Given the description of an element on the screen output the (x, y) to click on. 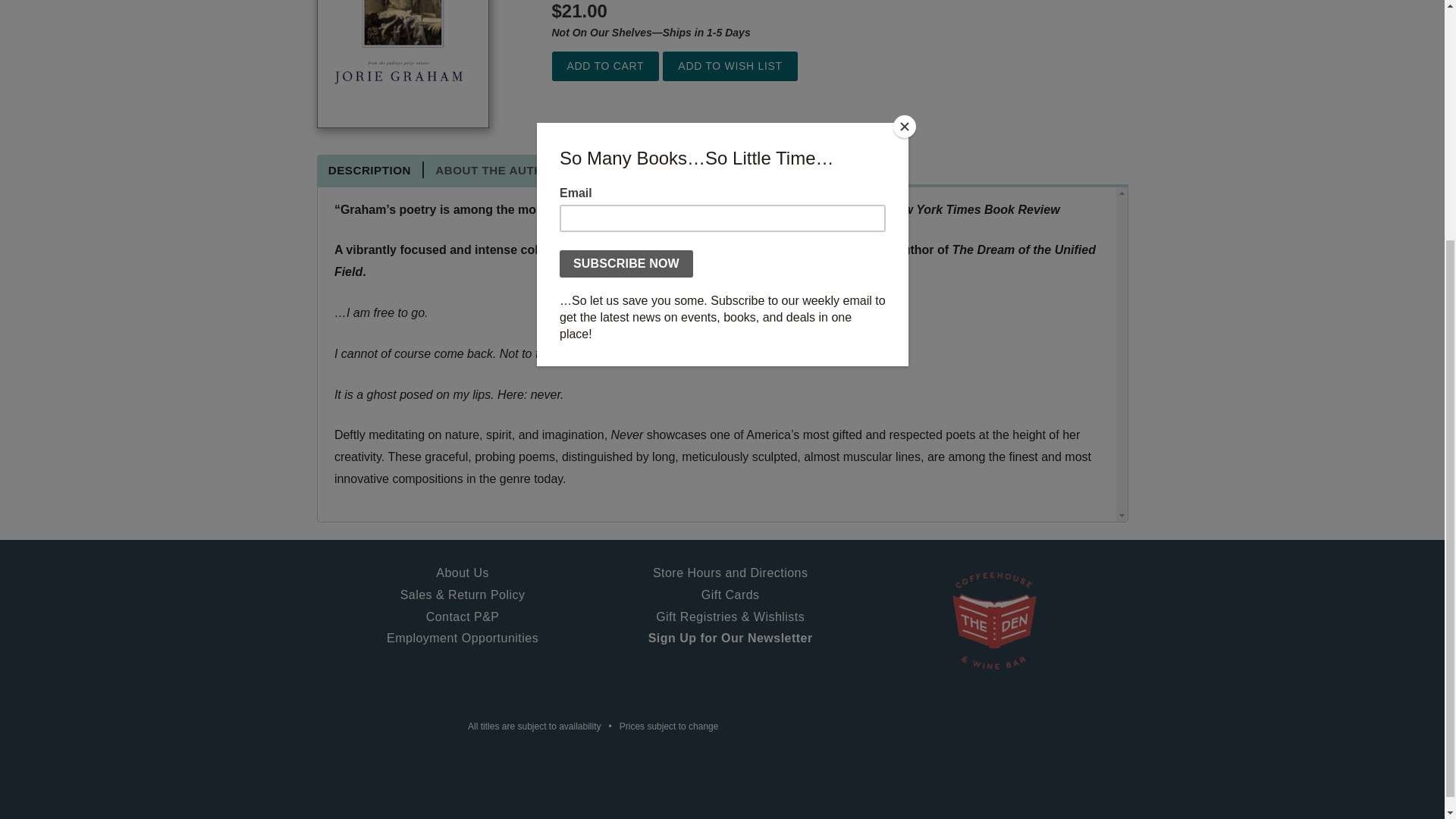
Add to Wish List (729, 66)
Add to Cart (605, 66)
